Given the description of an element on the screen output the (x, y) to click on. 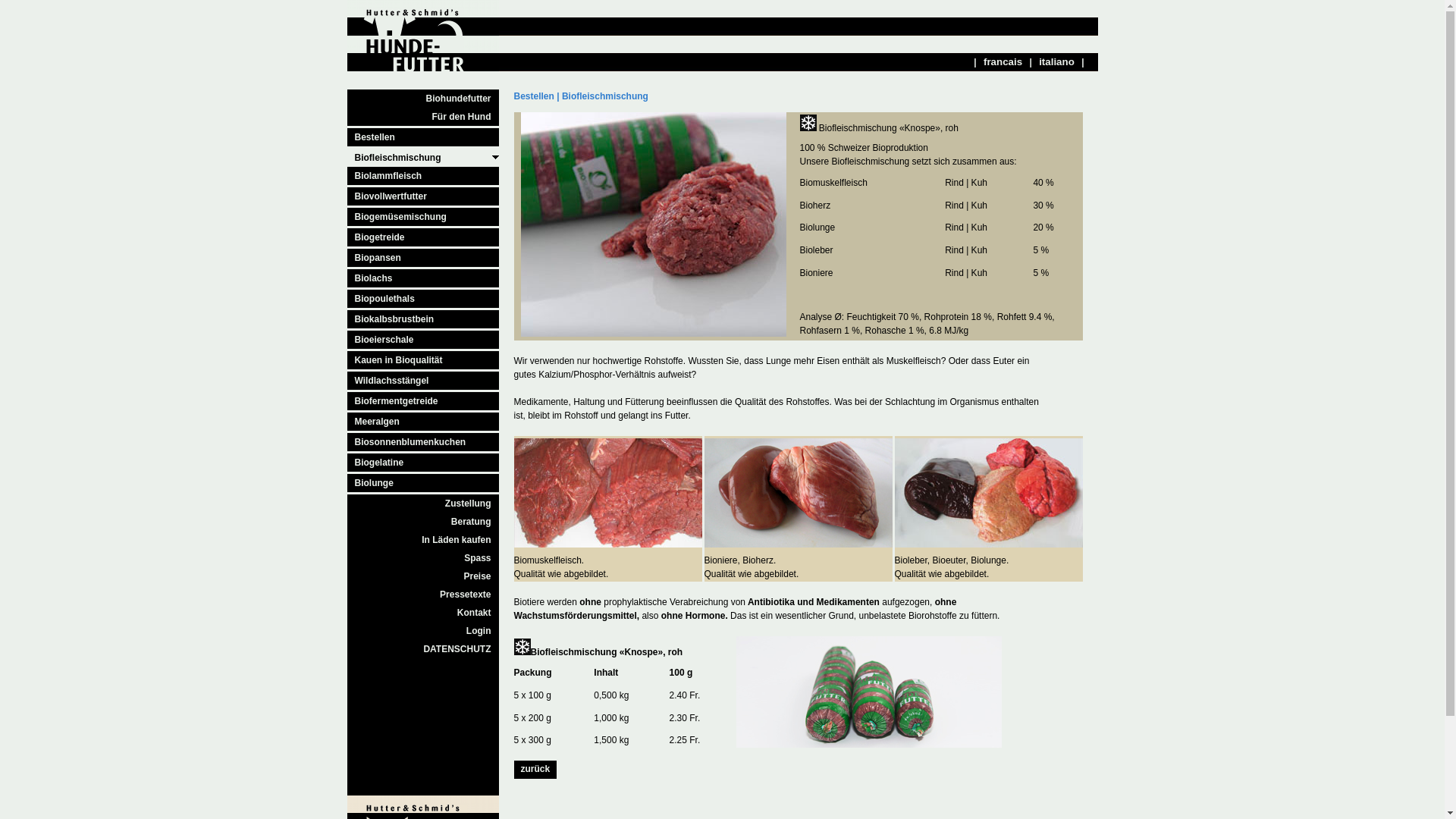
Biofleischmischung Element type: text (604, 96)
Biovollwertfutter Element type: text (422, 197)
Zur Startseite wechseln Element type: hover (422, 67)
Kontakt Element type: text (422, 612)
Biogetreide Element type: text (422, 238)
Bestellen Element type: text (534, 96)
Beratung Element type: text (422, 521)
Biohundefutter Element type: text (422, 98)
Biopoulethals Element type: text (422, 299)
Biolachs Element type: text (422, 279)
Meeralgen Element type: text (422, 422)
Biogelatine Element type: text (422, 463)
Pressetexte Element type: text (422, 594)
Biokalbsbrustbein Element type: text (422, 320)
italiano Element type: text (1056, 61)
Bestellen Element type: text (422, 136)
Zustellung Element type: text (422, 503)
Bioeierschale Element type: text (422, 340)
Biopansen Element type: text (422, 258)
DATENSCHUTZ Element type: text (422, 649)
Biolunge Element type: text (422, 483)
Preise Element type: text (422, 576)
Biofleischmischung Element type: text (422, 157)
Biofermentgetreide Element type: text (422, 402)
Biolammfleisch Element type: text (422, 176)
francais Element type: text (1002, 61)
Login Element type: text (422, 630)
Spass Element type: text (422, 558)
Biosonnenblumenkuchen Element type: text (422, 443)
